Given the description of an element on the screen output the (x, y) to click on. 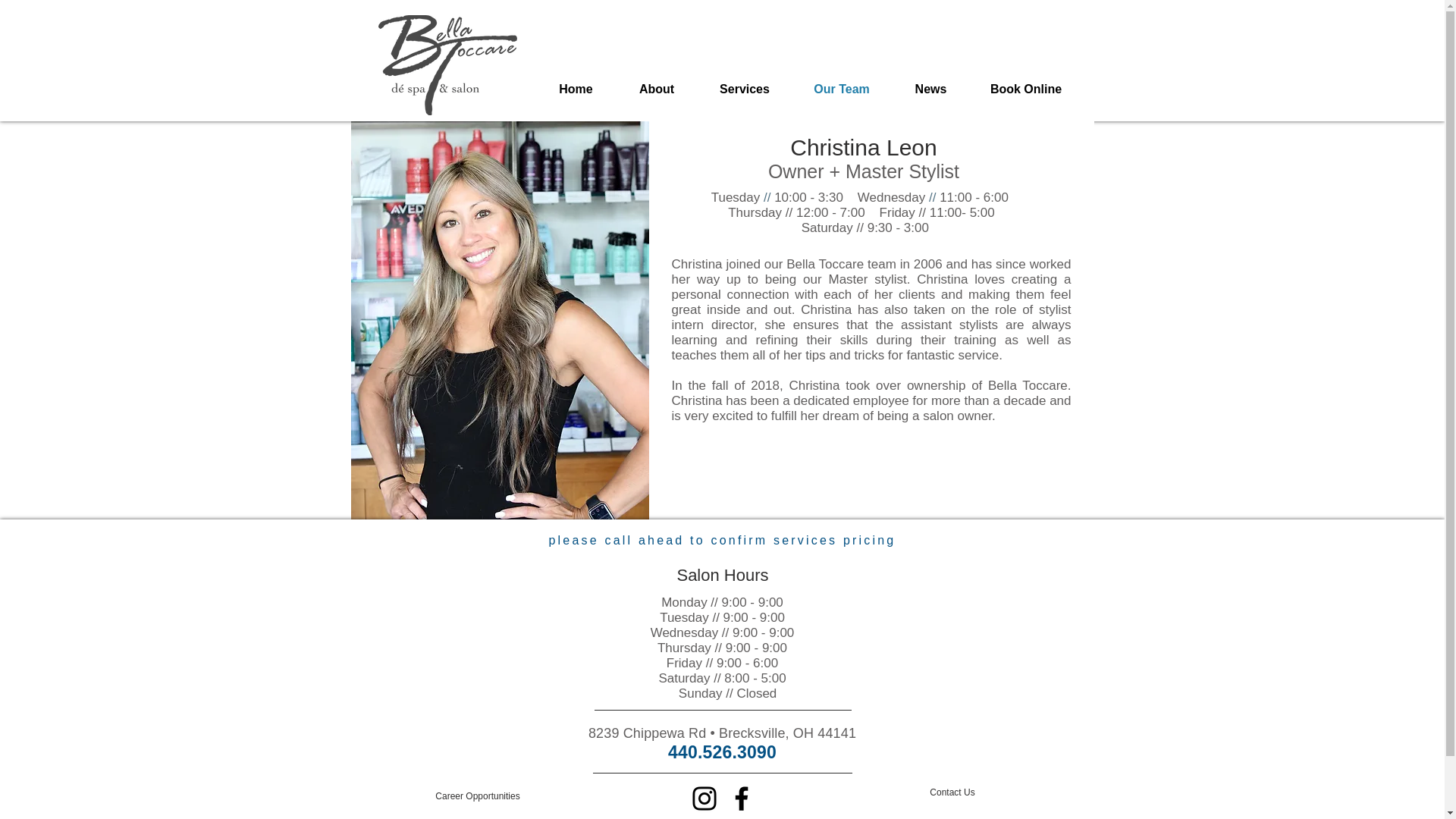
Our Team (841, 88)
 please call ahead to confirm services pricing  (722, 540)
440.526.3090 (722, 752)
Contact Us (952, 792)
Book Online (1026, 88)
Career Opportunities (477, 796)
Home (575, 88)
News (931, 88)
